Given the description of an element on the screen output the (x, y) to click on. 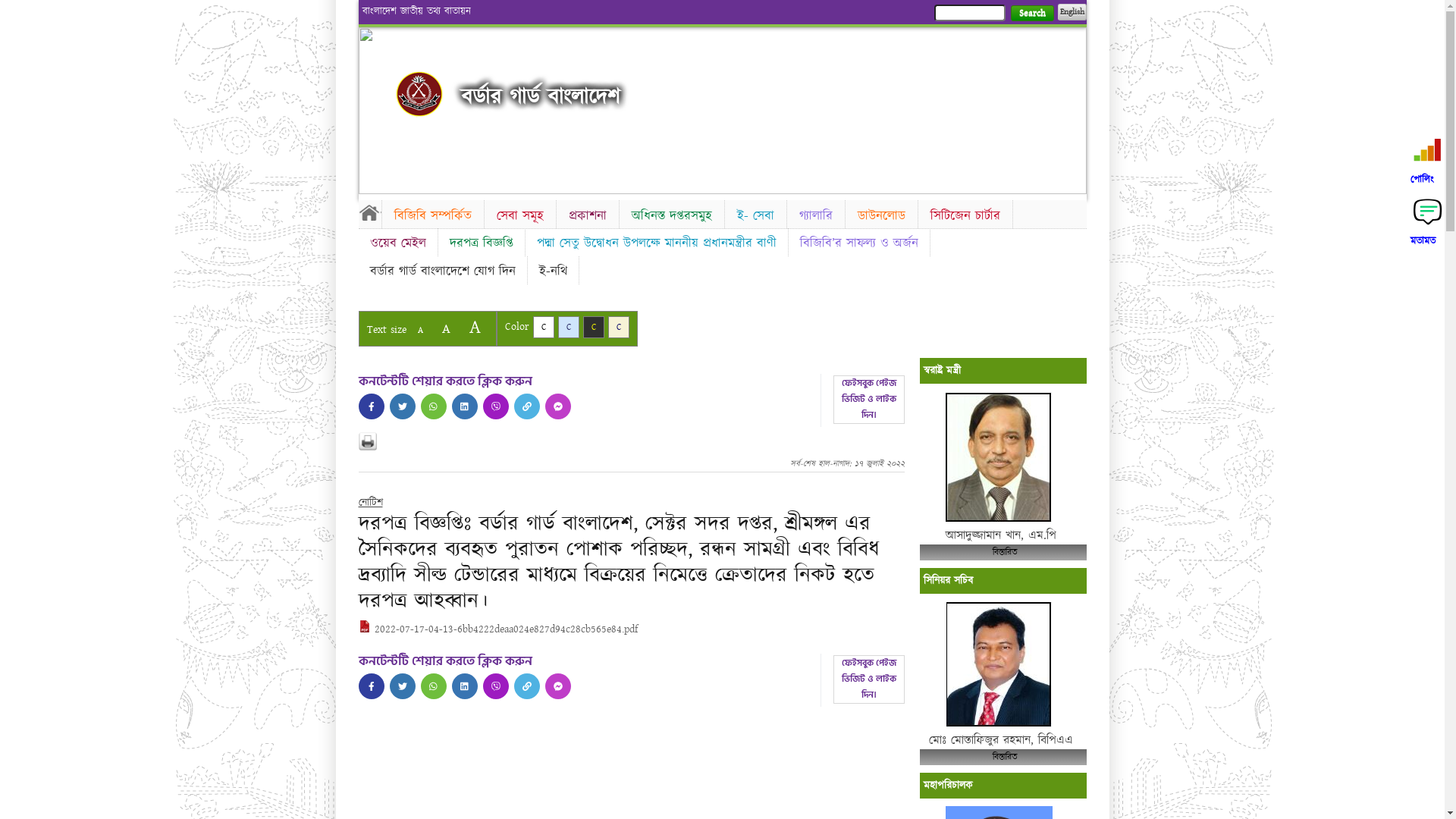
C Element type: text (542, 327)
Home Element type: hover (418, 93)
Search Element type: text (1031, 13)
Home Element type: hover (368, 211)
2022-07-17-04-13-6bb4222deaa024e827d94c28cb565e84.pdf Element type: text (497, 629)
C Element type: text (568, 327)
C Element type: text (618, 327)
A Element type: text (419, 330)
A Element type: text (474, 327)
C Element type: text (592, 327)
A Element type: text (445, 328)
English Element type: text (1071, 11)
